Given the description of an element on the screen output the (x, y) to click on. 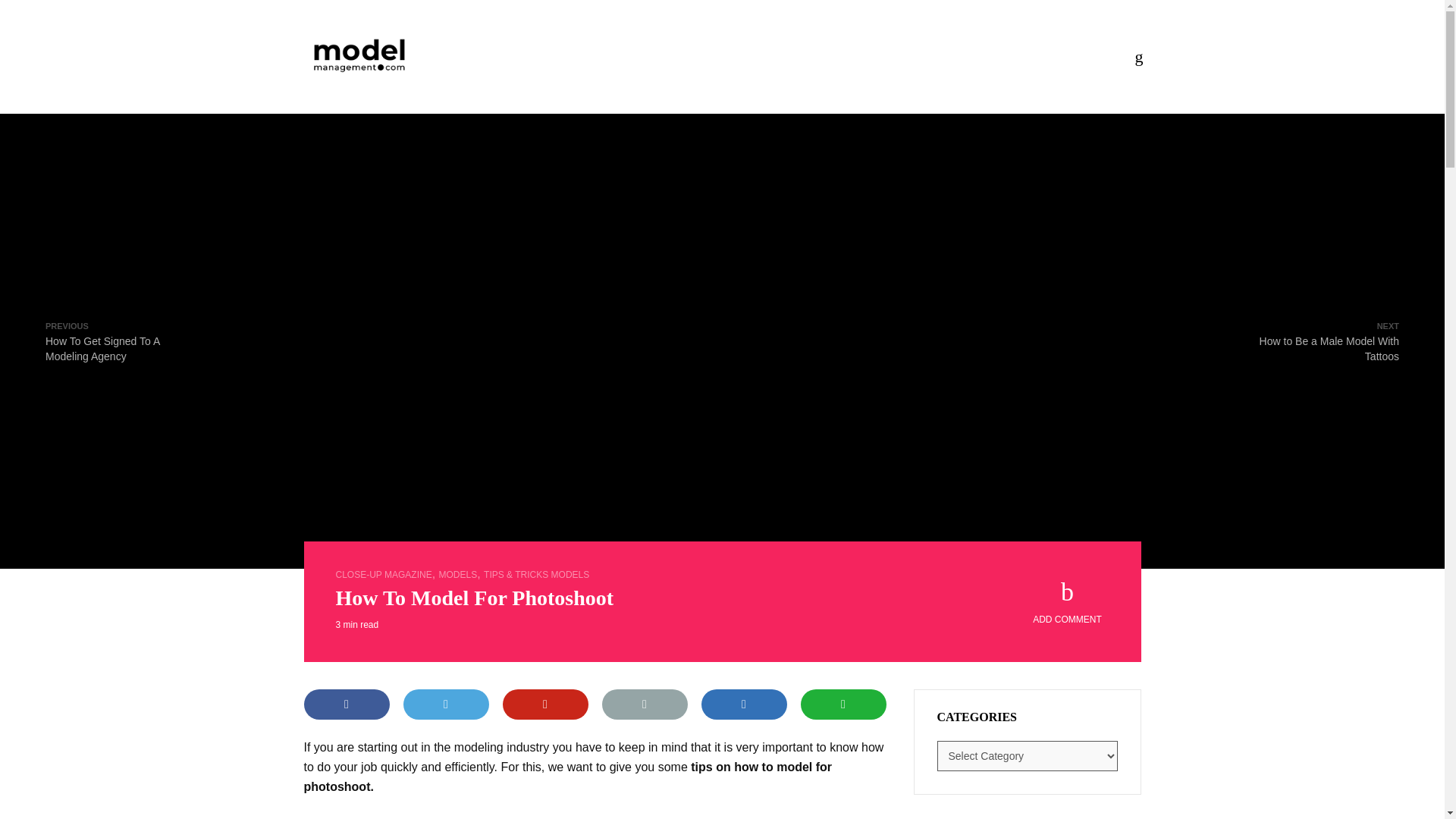
CLOSE-UP MAGAZINE (382, 574)
MODELS (1329, 340)
ADD COMMENT (115, 340)
